Given the description of an element on the screen output the (x, y) to click on. 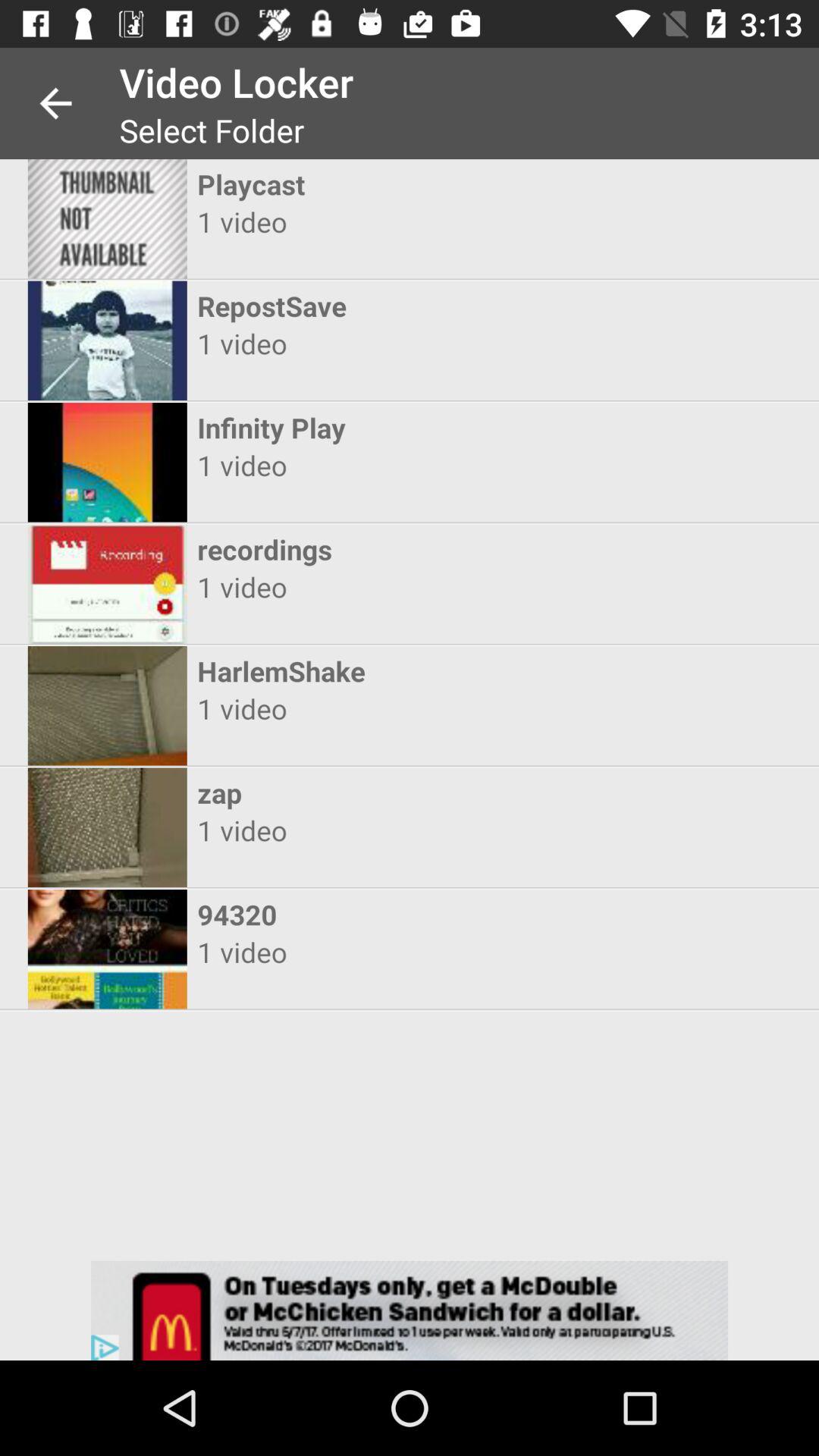
turn off item above the 1 video item (396, 792)
